Given the description of an element on the screen output the (x, y) to click on. 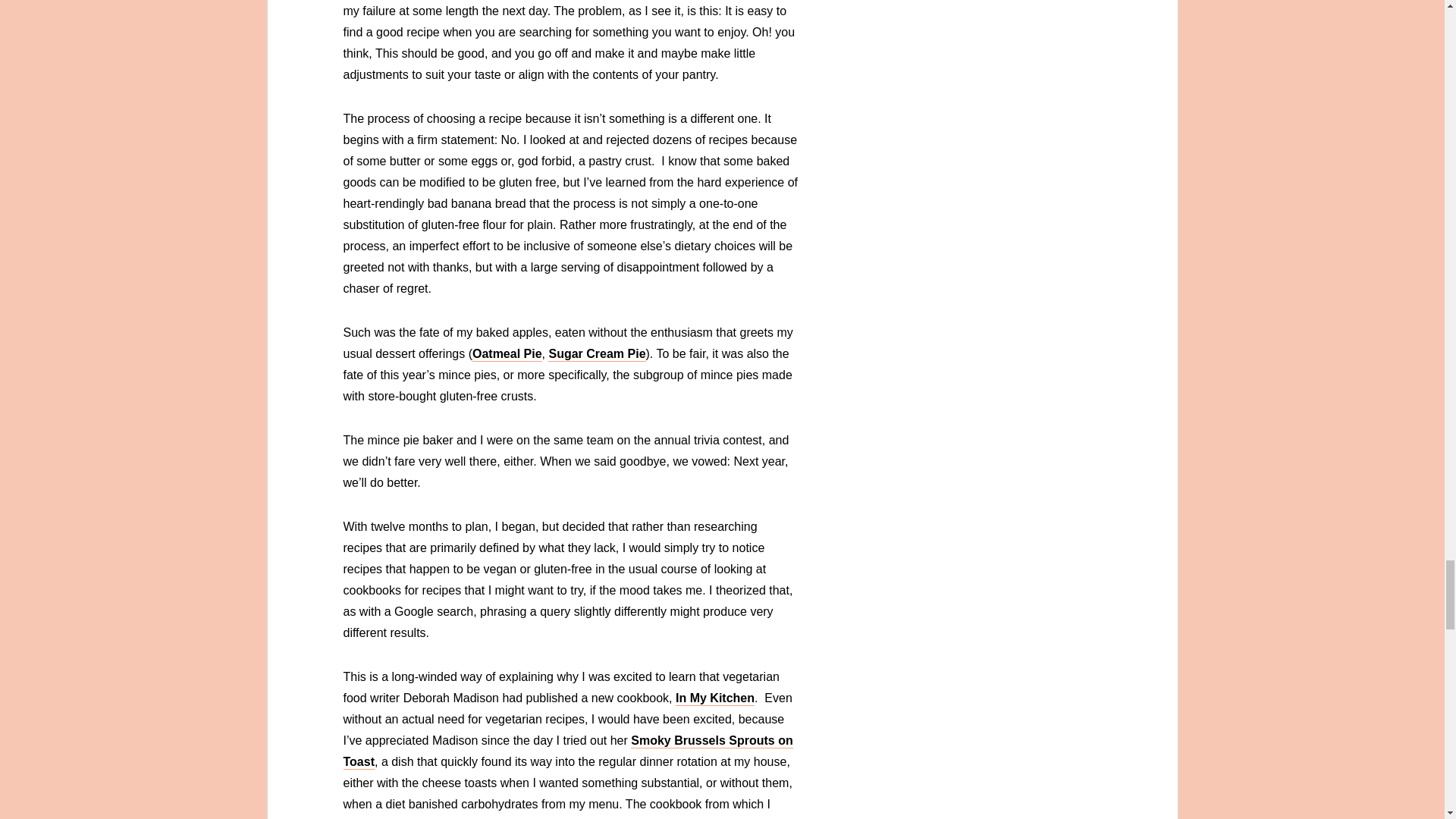
Smoky Brussels Sprouts on Toast (567, 751)
In My Kitchen (714, 698)
Sugar Cream Pie (596, 354)
Oatmeal Pie (506, 354)
